Given the description of an element on the screen output the (x, y) to click on. 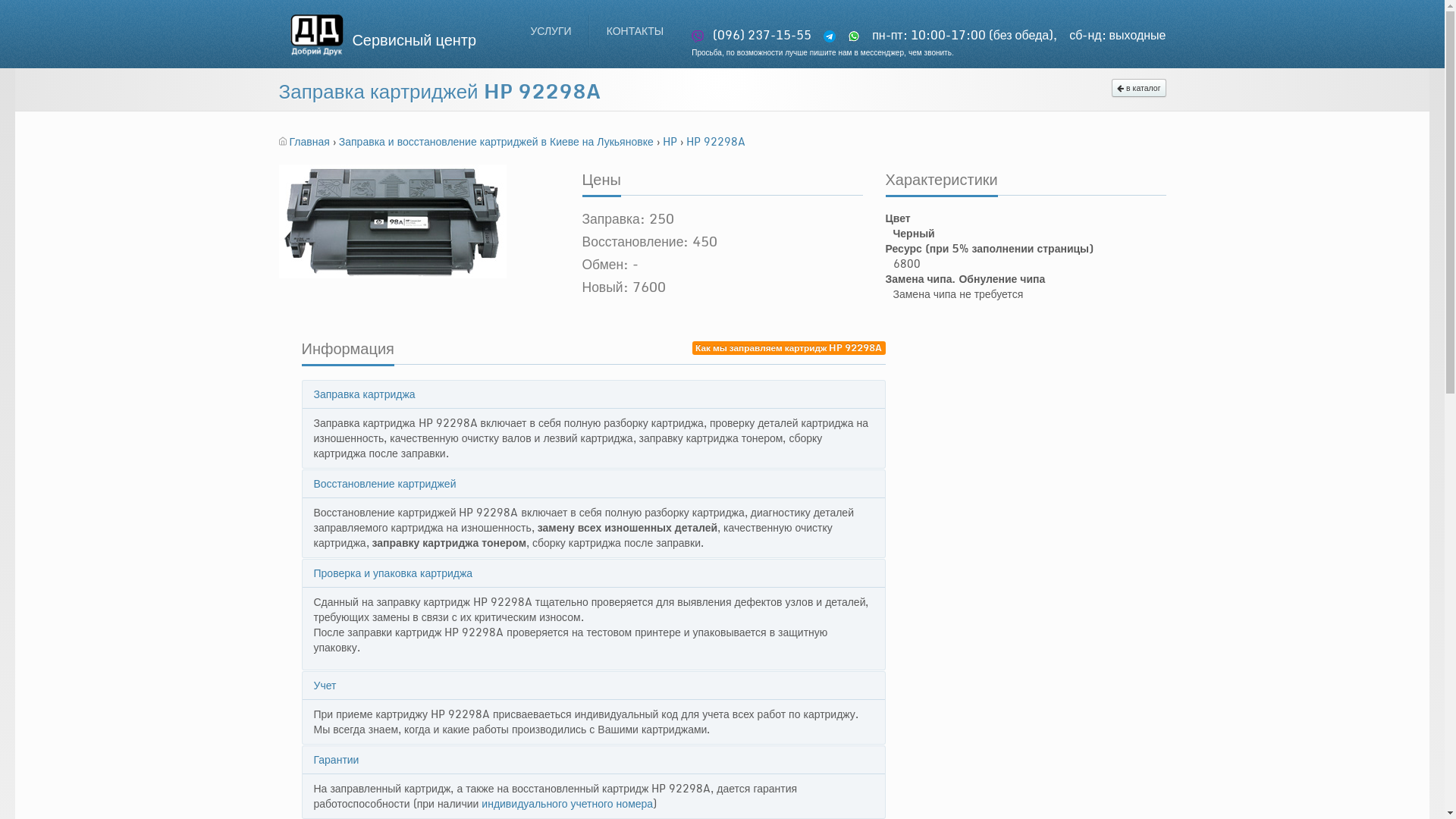
 (096) 237-15-55 Element type: text (751, 34)
  Element type: text (858, 34)
Telegram Element type: hover (832, 36)
HP 92298A Element type: text (715, 141)
  Element type: text (833, 34)
Viber Element type: hover (700, 36)
WhatsApp Element type: hover (856, 36)
HP Element type: text (671, 141)
